Given the description of an element on the screen output the (x, y) to click on. 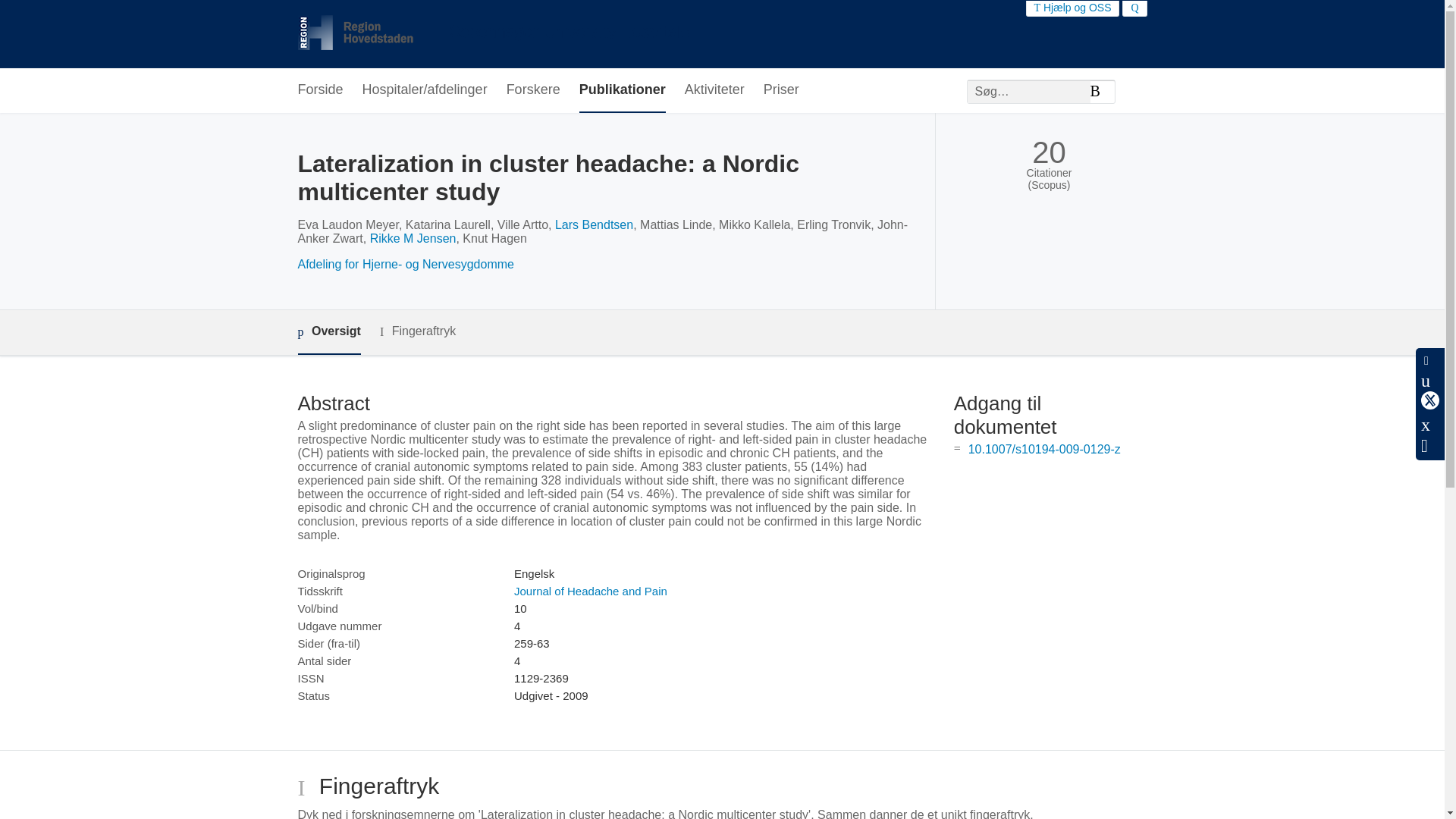
Fingeraftryk (417, 331)
Publikationer (622, 90)
Journal of Headache and Pain (589, 590)
Forskere (533, 90)
Rikke M Jensen (413, 237)
Oversigt (328, 332)
Aktiviteter (714, 90)
Forside (319, 90)
Region Hovedstadens forskningsportal Forside (492, 34)
